Given the description of an element on the screen output the (x, y) to click on. 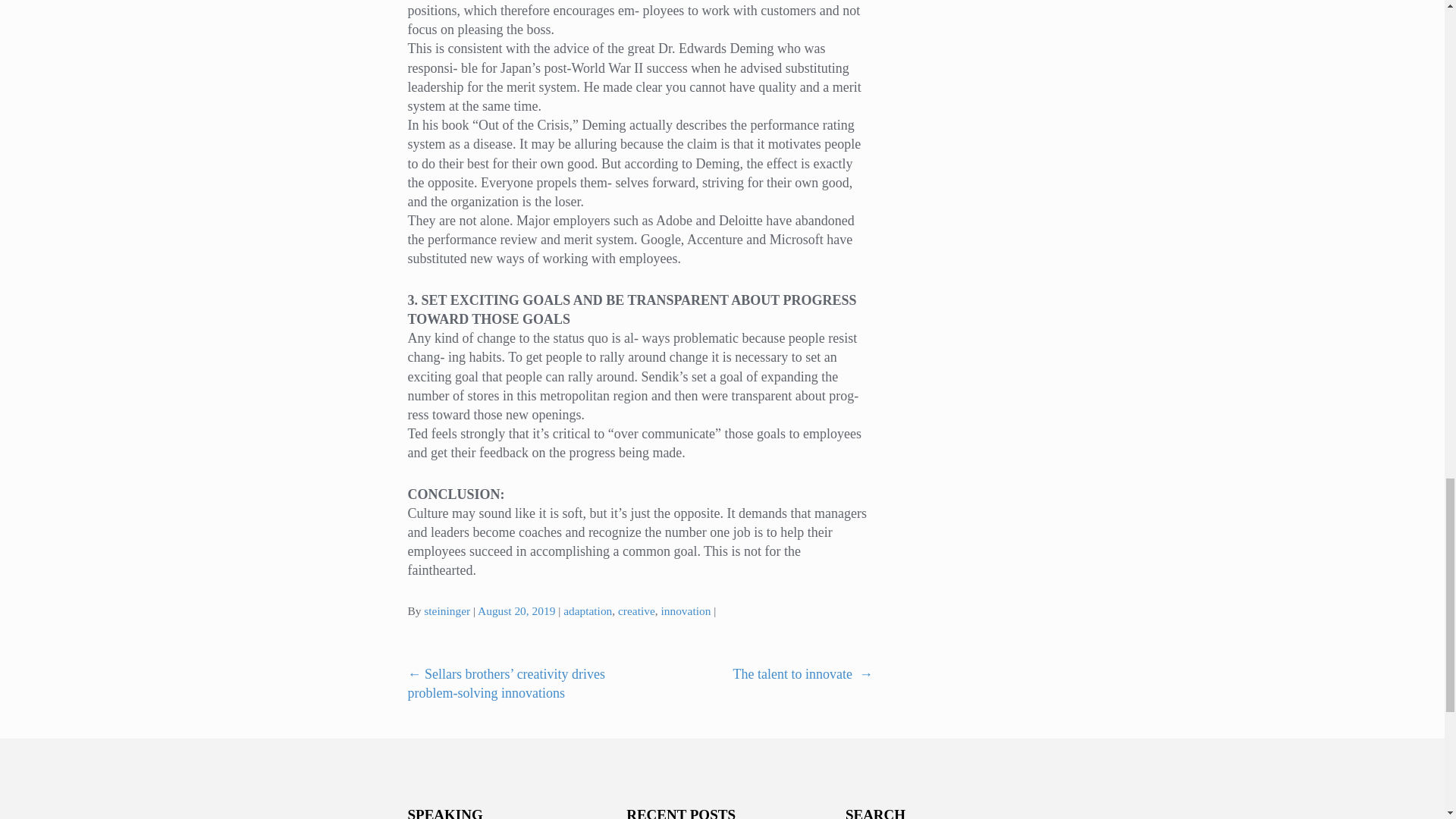
adaptation (587, 610)
steininger (446, 610)
innovation (685, 610)
creative (636, 610)
August 20, 2019 (515, 610)
